Given the description of an element on the screen output the (x, y) to click on. 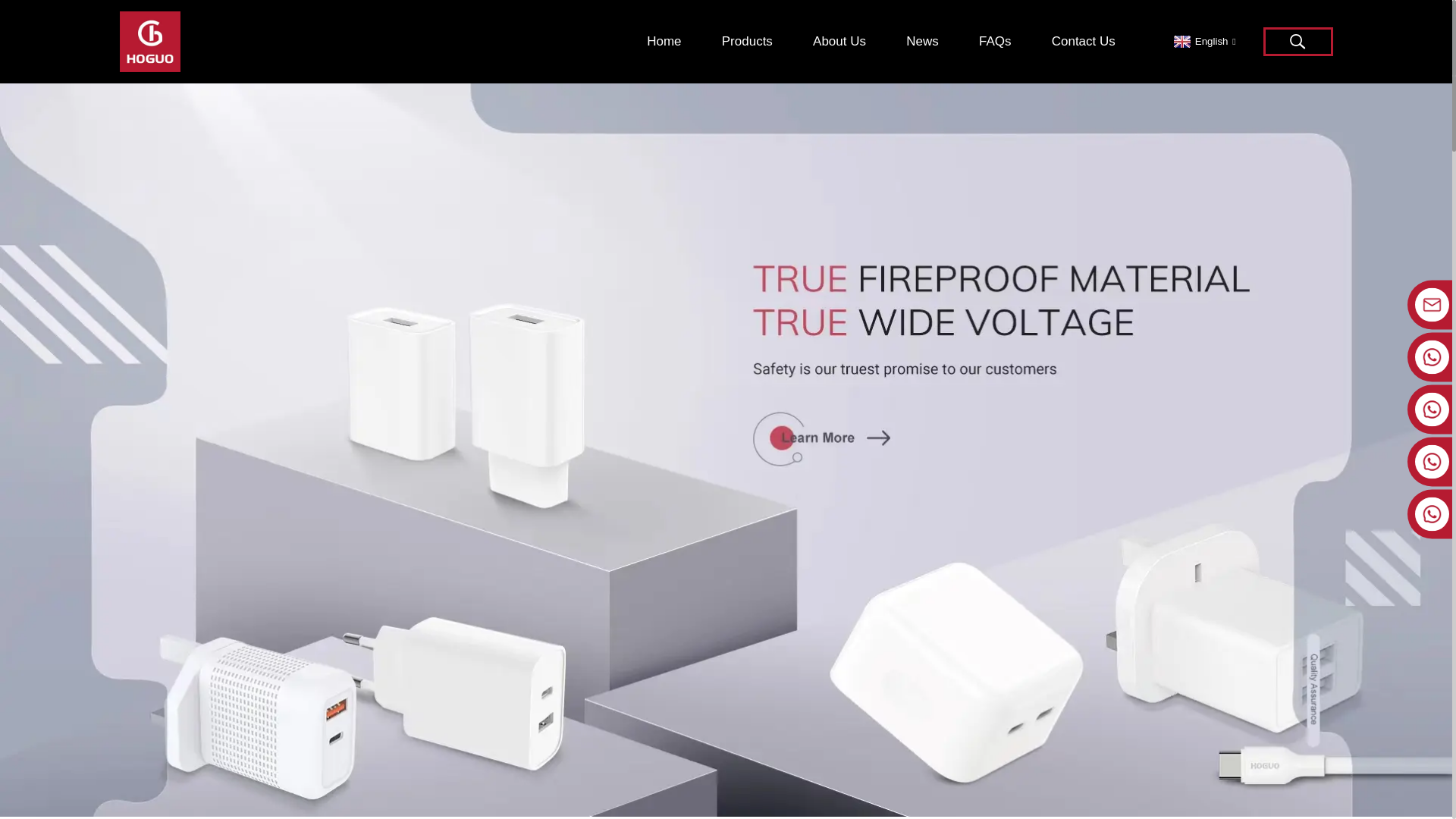
News (922, 41)
Products (747, 41)
Contact Us (1083, 41)
About Us (839, 41)
FAQs (994, 41)
English (1203, 41)
Home (663, 41)
